Given the description of an element on the screen output the (x, y) to click on. 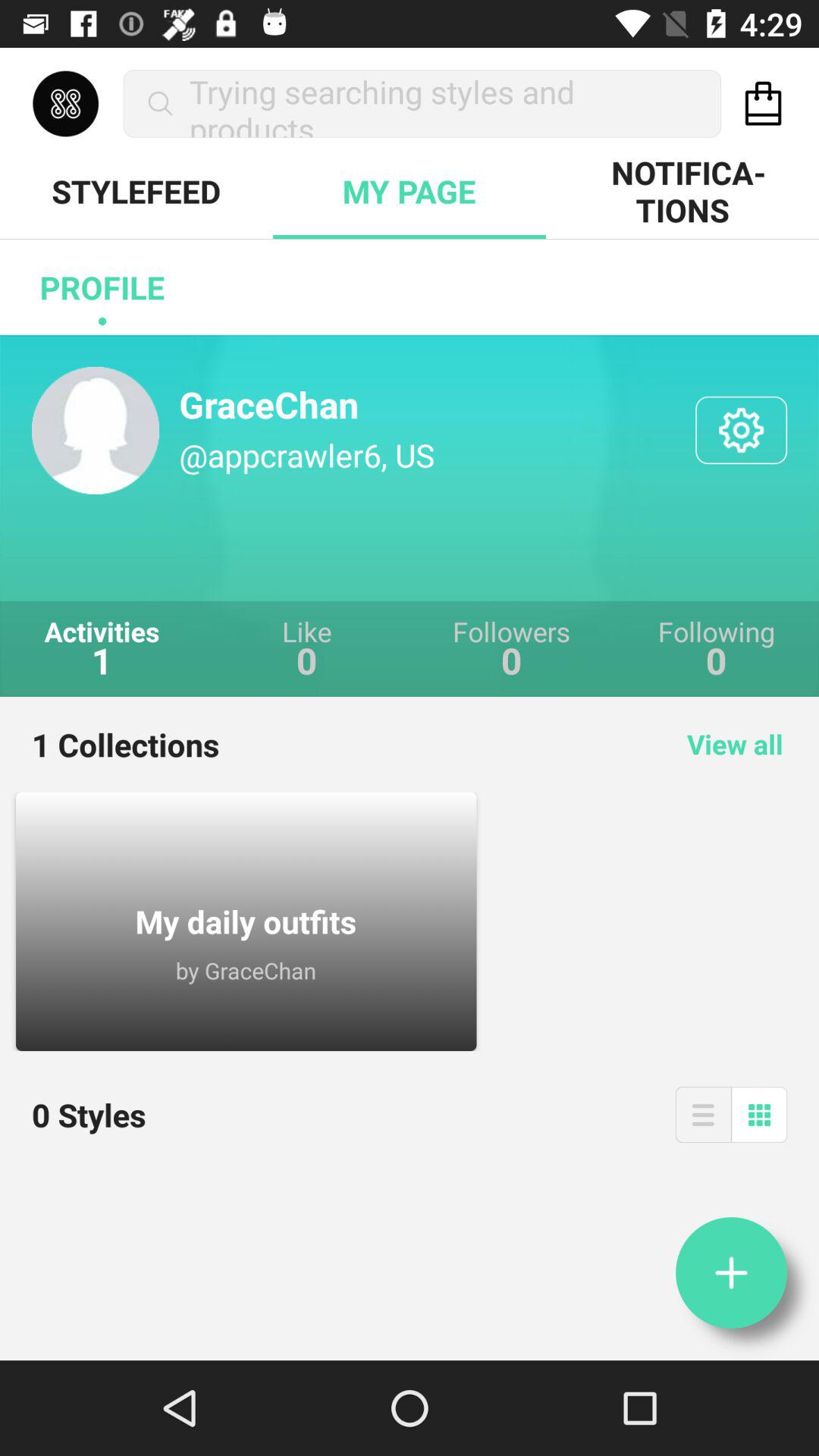
see parameters (741, 430)
